Given the description of an element on the screen output the (x, y) to click on. 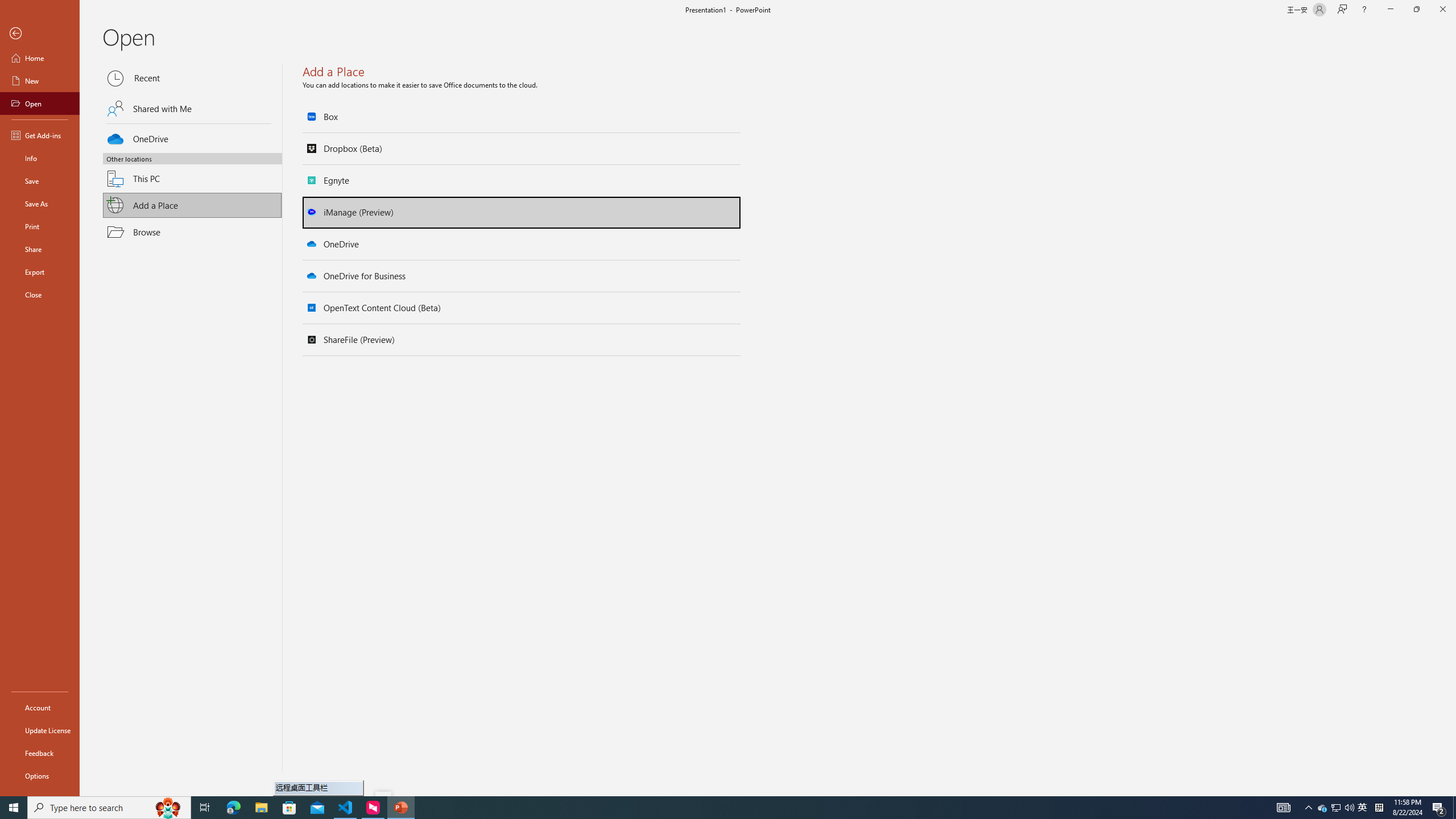
Dropbox (Beta) (521, 148)
Egnyte (521, 180)
Box (521, 116)
OneDrive (521, 244)
Save As (40, 203)
Feedback (40, 753)
This PC (192, 171)
Export (40, 271)
Options (40, 775)
